Given the description of an element on the screen output the (x, y) to click on. 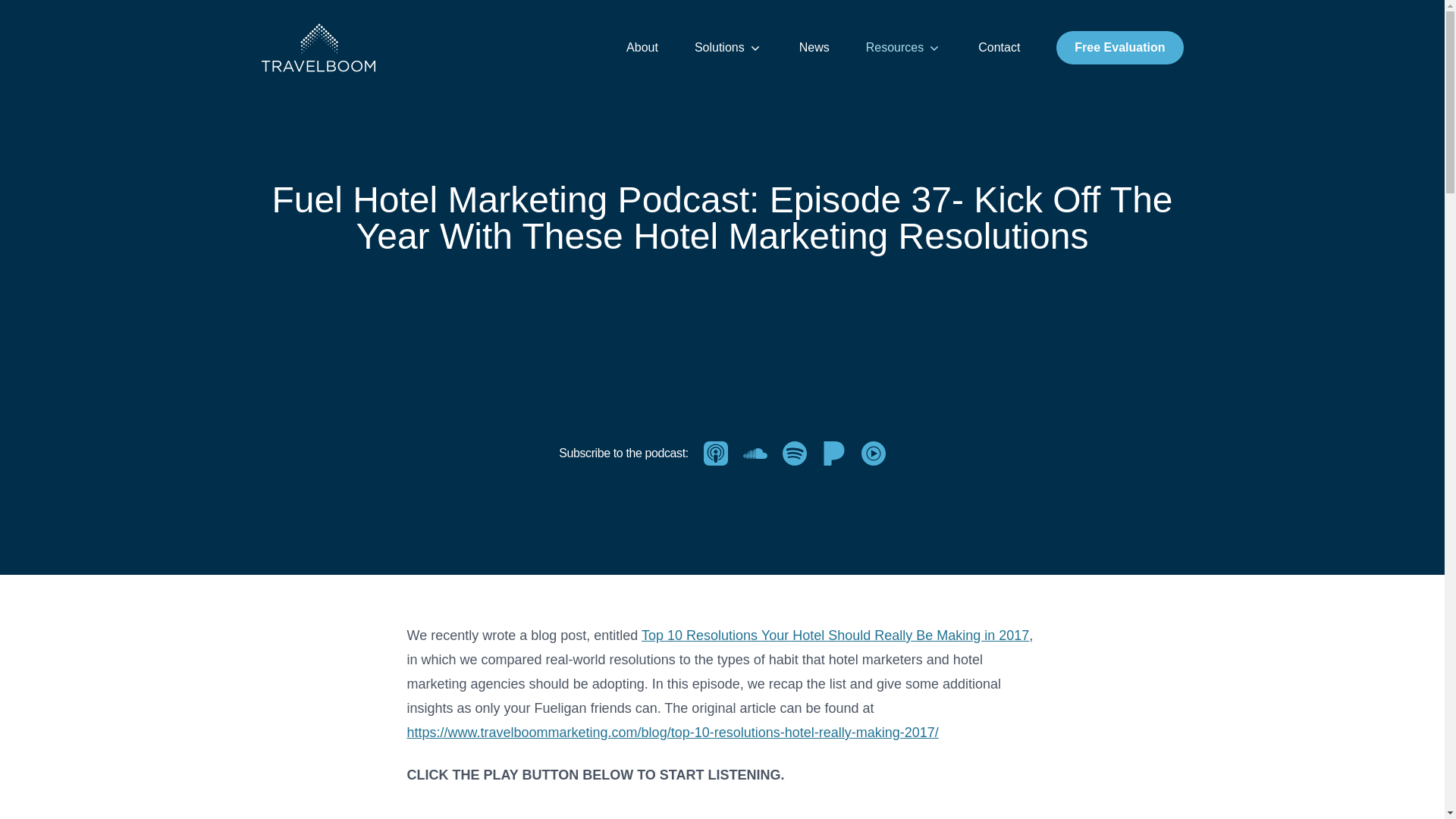
Free Evaluation (1119, 47)
Resources (904, 47)
Solutions (728, 47)
TravelBoom Marketing (317, 47)
About (642, 47)
News (814, 47)
Contact (999, 47)
